Given the description of an element on the screen output the (x, y) to click on. 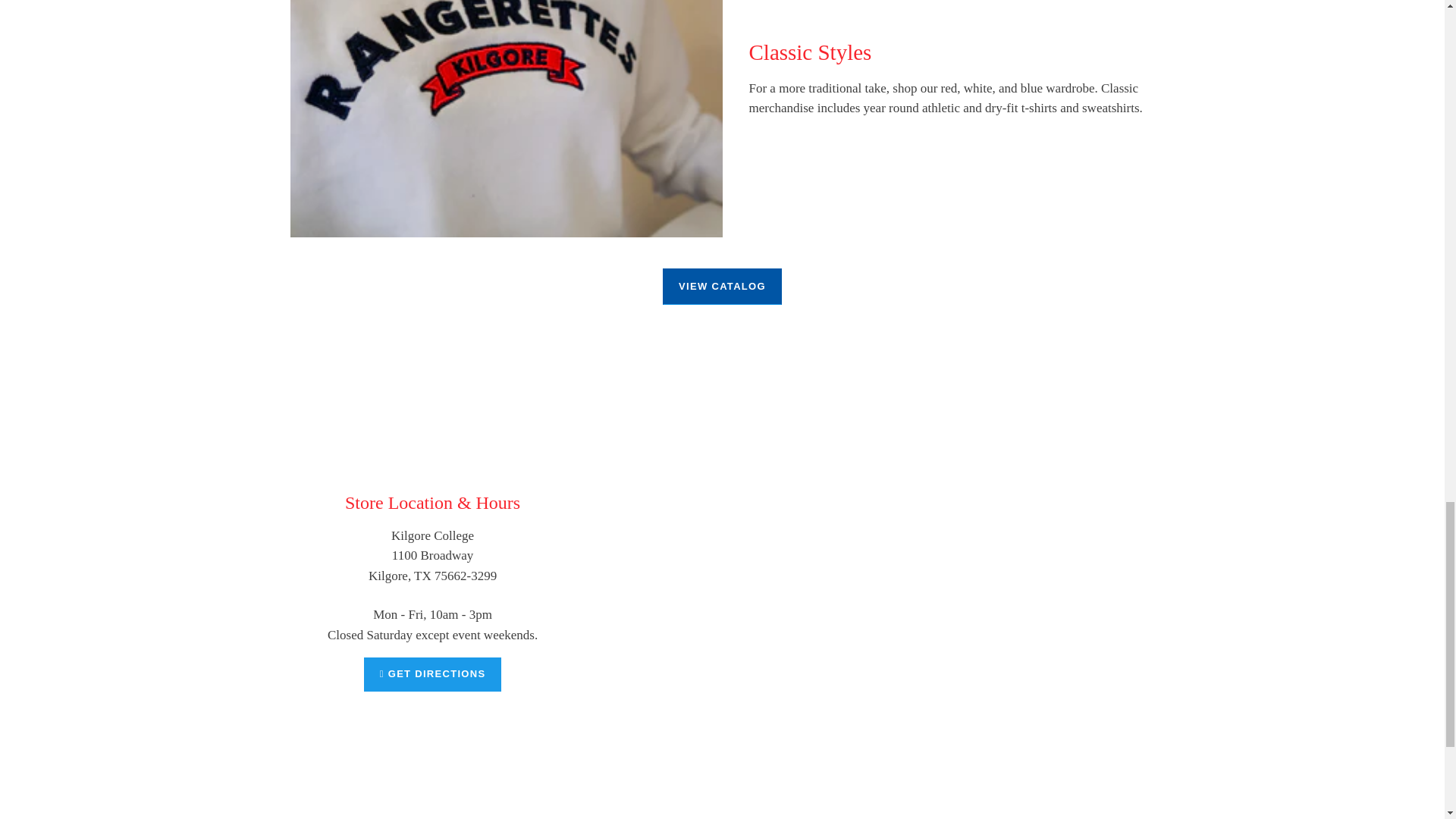
GET DIRECTIONS (433, 674)
VIEW CATALOG (721, 286)
